Given the description of an element on the screen output the (x, y) to click on. 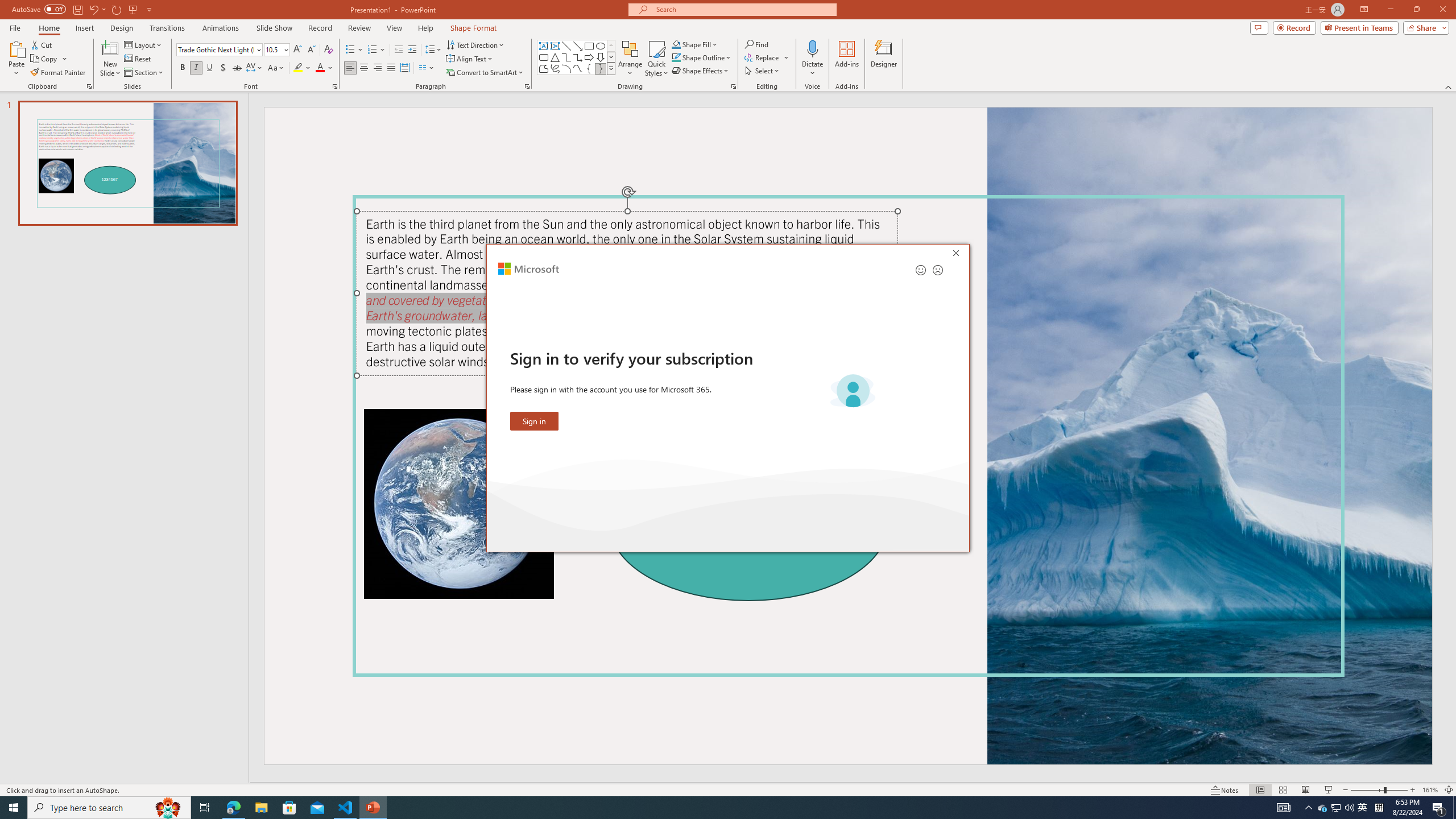
Reset (138, 58)
Find... (756, 44)
Send a frown for feedback (937, 269)
Font Color Red (320, 67)
Align Right (377, 67)
Line Arrow (577, 45)
Connector: Elbow (566, 57)
Action Center, 1 new notification (1439, 807)
Zoom 161% (1430, 790)
Decrease Font Size (310, 49)
